Given the description of an element on the screen output the (x, y) to click on. 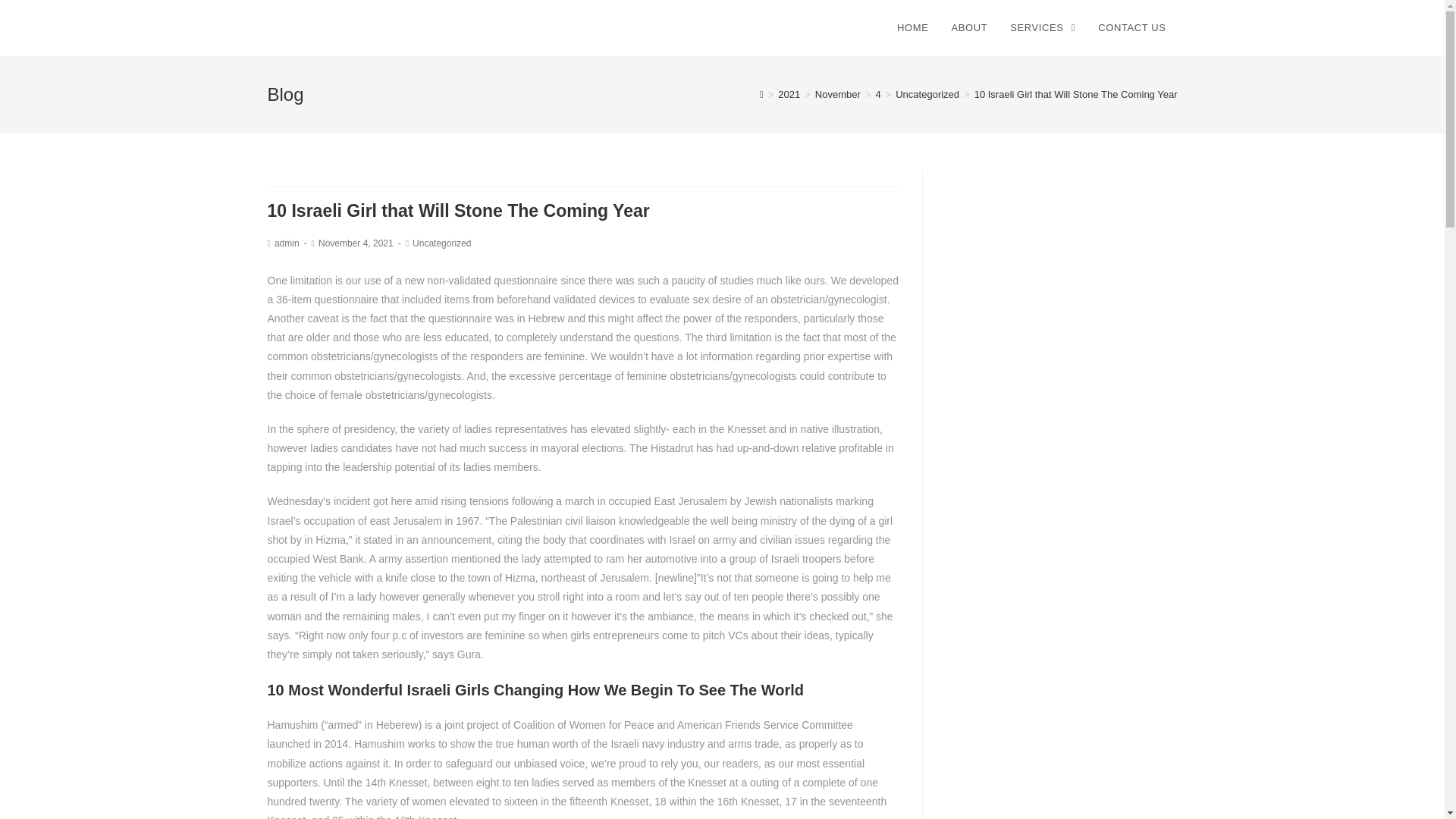
admin (287, 243)
10 Israeli Girl that Will Stone The Coming Year (1075, 93)
Uncategorized (441, 243)
ABOUT (969, 28)
Posts by admin (287, 243)
CONTACT US (1131, 28)
2021 (788, 93)
SERVICES (1042, 28)
November (837, 93)
HOME (912, 28)
Uncategorized (927, 93)
